Given the description of an element on the screen output the (x, y) to click on. 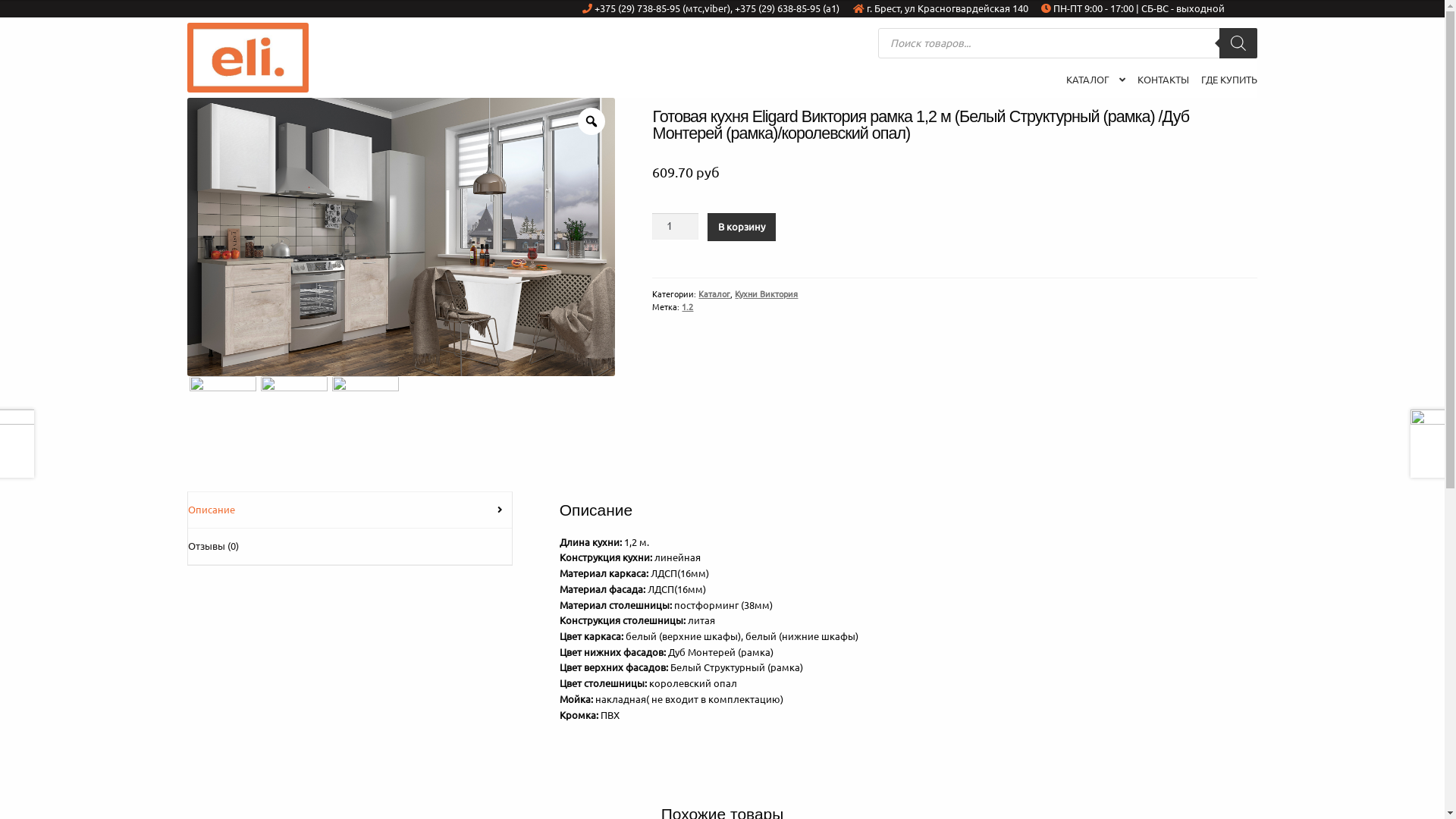
1.2 Element type: text (687, 306)
